Given the description of an element on the screen output the (x, y) to click on. 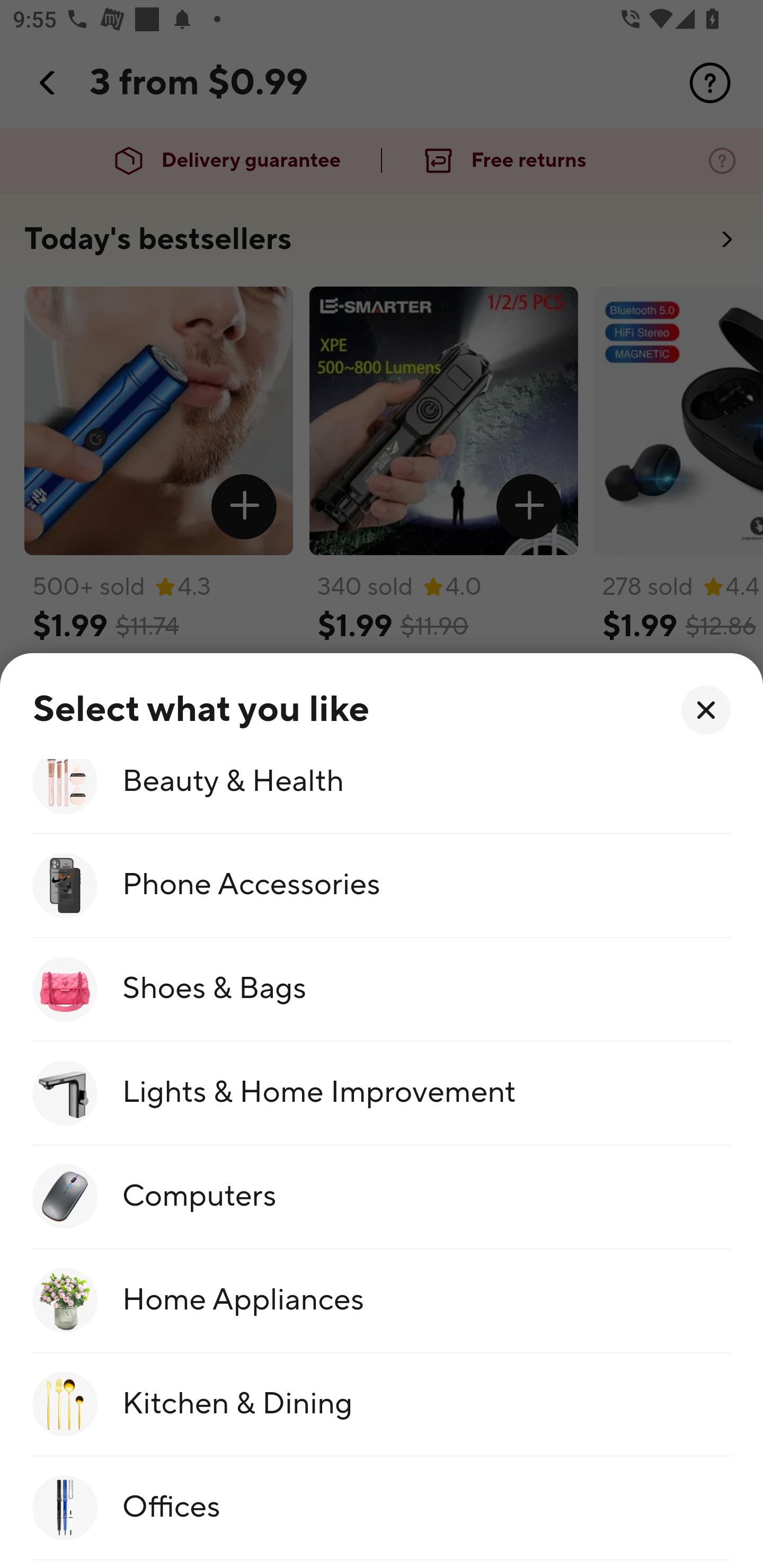
96x96 (705, 710)
300x300.png_ Beauty & Health (381, 795)
300x300.png_ Phone Accessories (381, 885)
300x300.png_ Shoes & Bags (381, 989)
300x300.png_ Lights & Home Improvement (381, 1093)
300x300.png_ Computers (381, 1196)
300x300.png_ Home Appliances (381, 1301)
300x300.png_ Kitchen & Dining (381, 1403)
300x300.png_ Offices (381, 1507)
